Given the description of an element on the screen output the (x, y) to click on. 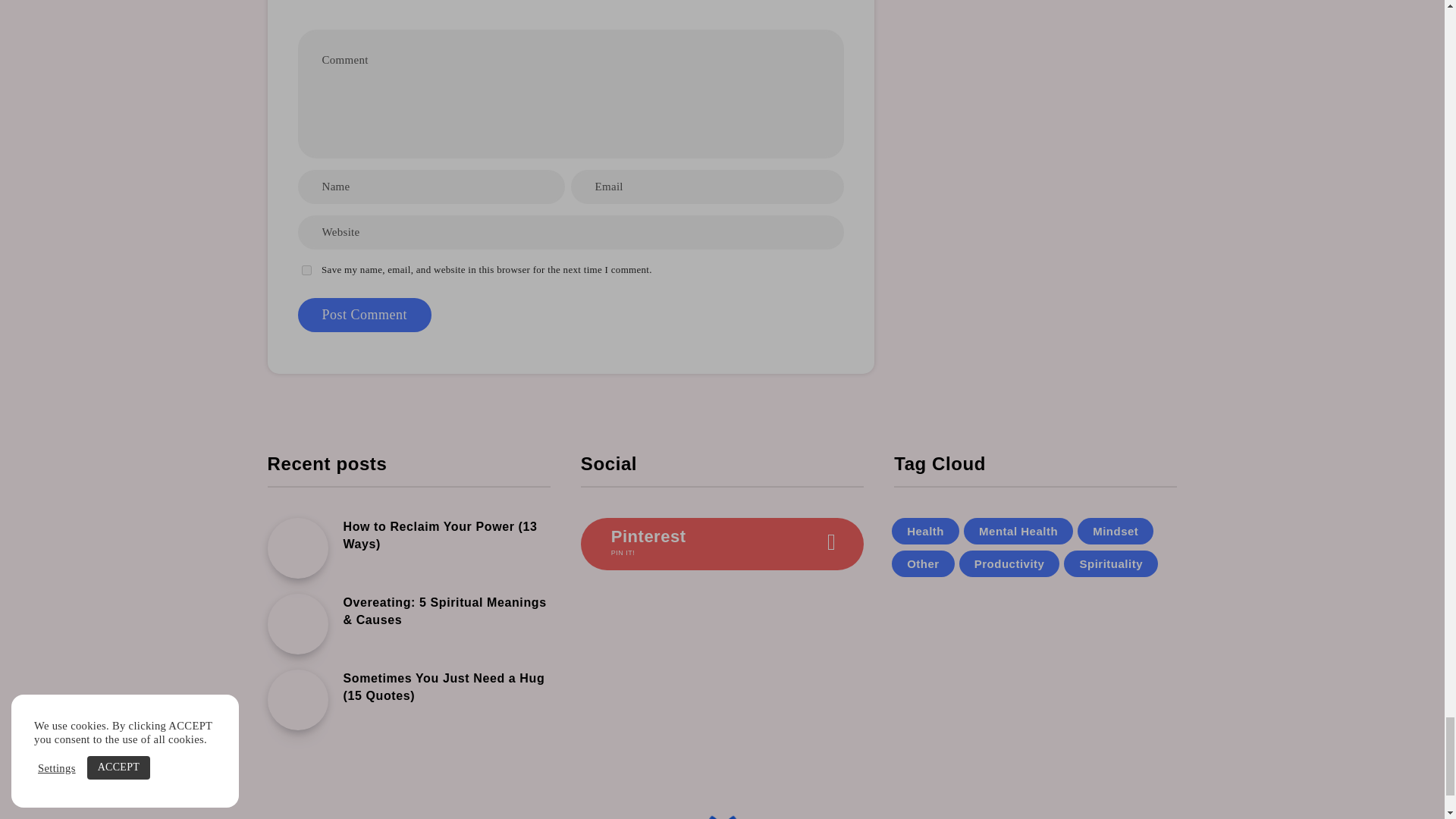
Post Comment (363, 315)
yes (306, 270)
Post Comment (363, 315)
